Given the description of an element on the screen output the (x, y) to click on. 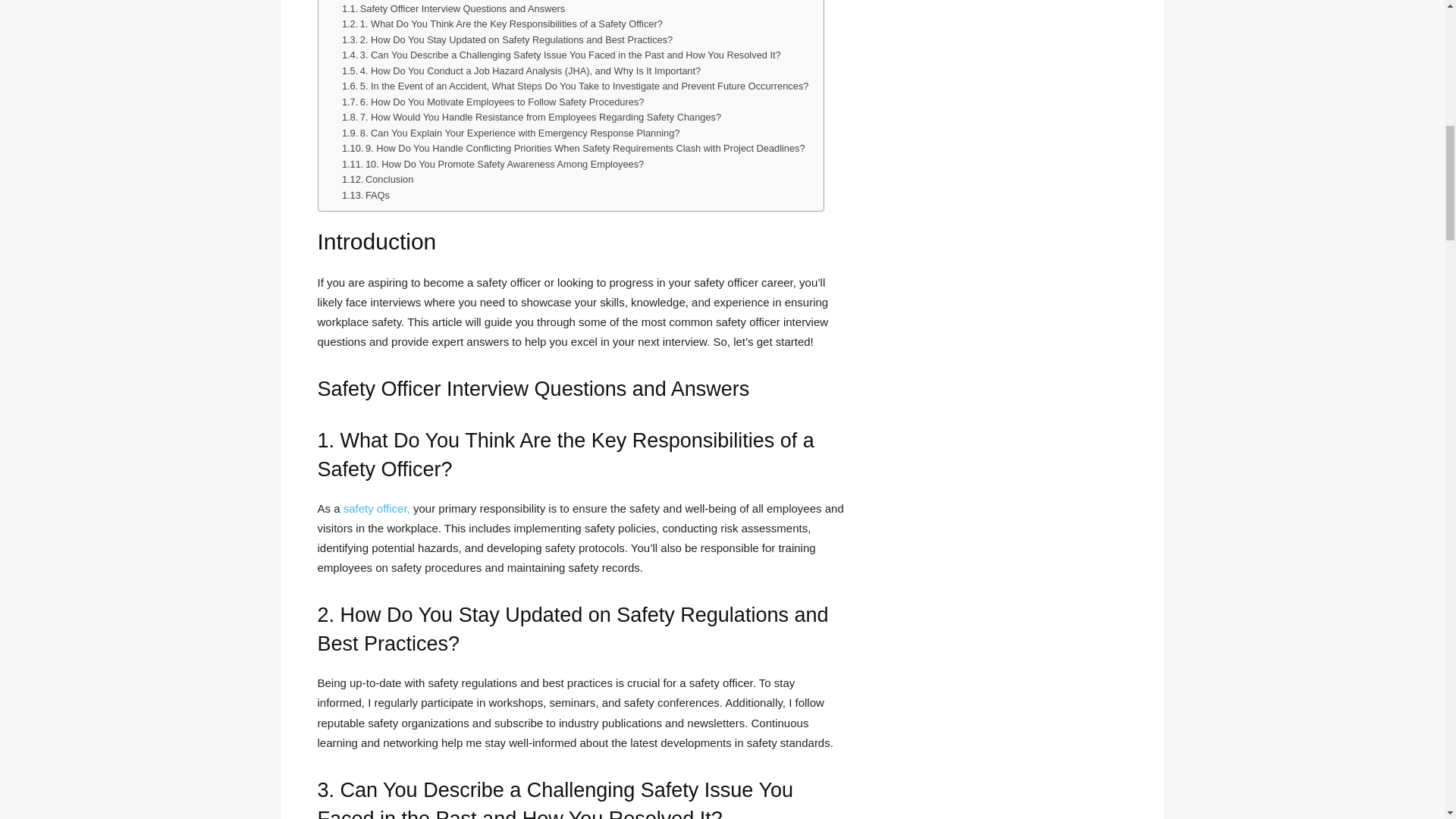
Introduction (359, 0)
Safety Officer Interview Questions and Answers (453, 9)
